Given the description of an element on the screen output the (x, y) to click on. 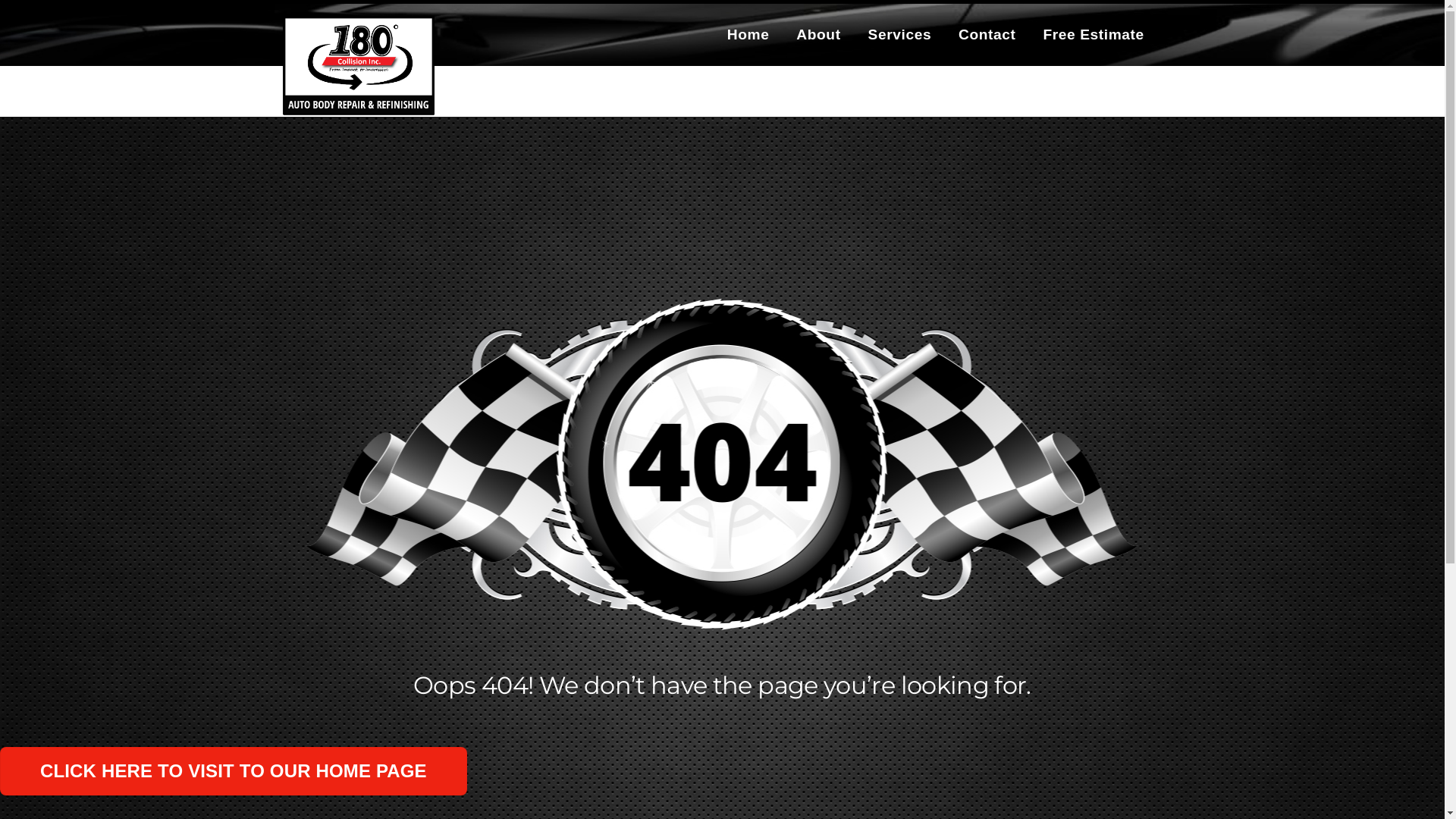
CLICK HERE TO VISIT TO OUR HOME PAGE Element type: text (233, 771)
180collision-rectangle-onwhite Element type: hover (357, 65)
Services Element type: text (899, 34)
About Element type: text (818, 34)
Home Element type: text (748, 34)
Contact Element type: text (987, 34)
180 Collision Inc. Element type: hover (357, 106)
Free Estimate Element type: text (1093, 34)
